Given the description of an element on the screen output the (x, y) to click on. 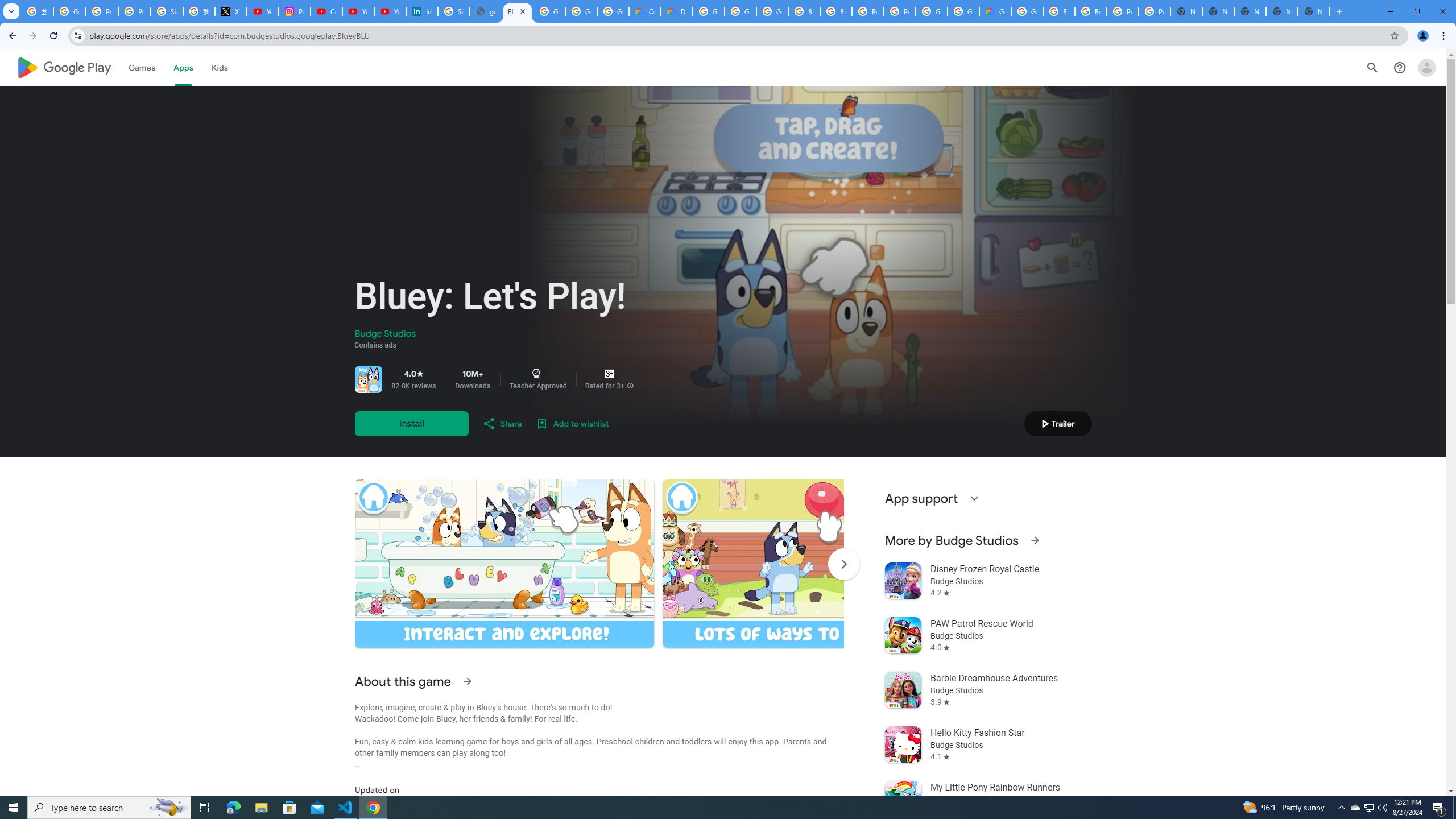
Screenshot image (812, 563)
Help Center (1399, 67)
See more information on More by Budge Studios (1034, 539)
New Tab (1313, 11)
Google Workspace - Specific Terms (581, 11)
Browse Chrome as a guest - Computer - Google Chrome Help (804, 11)
Content rating (609, 373)
